Given the description of an element on the screen output the (x, y) to click on. 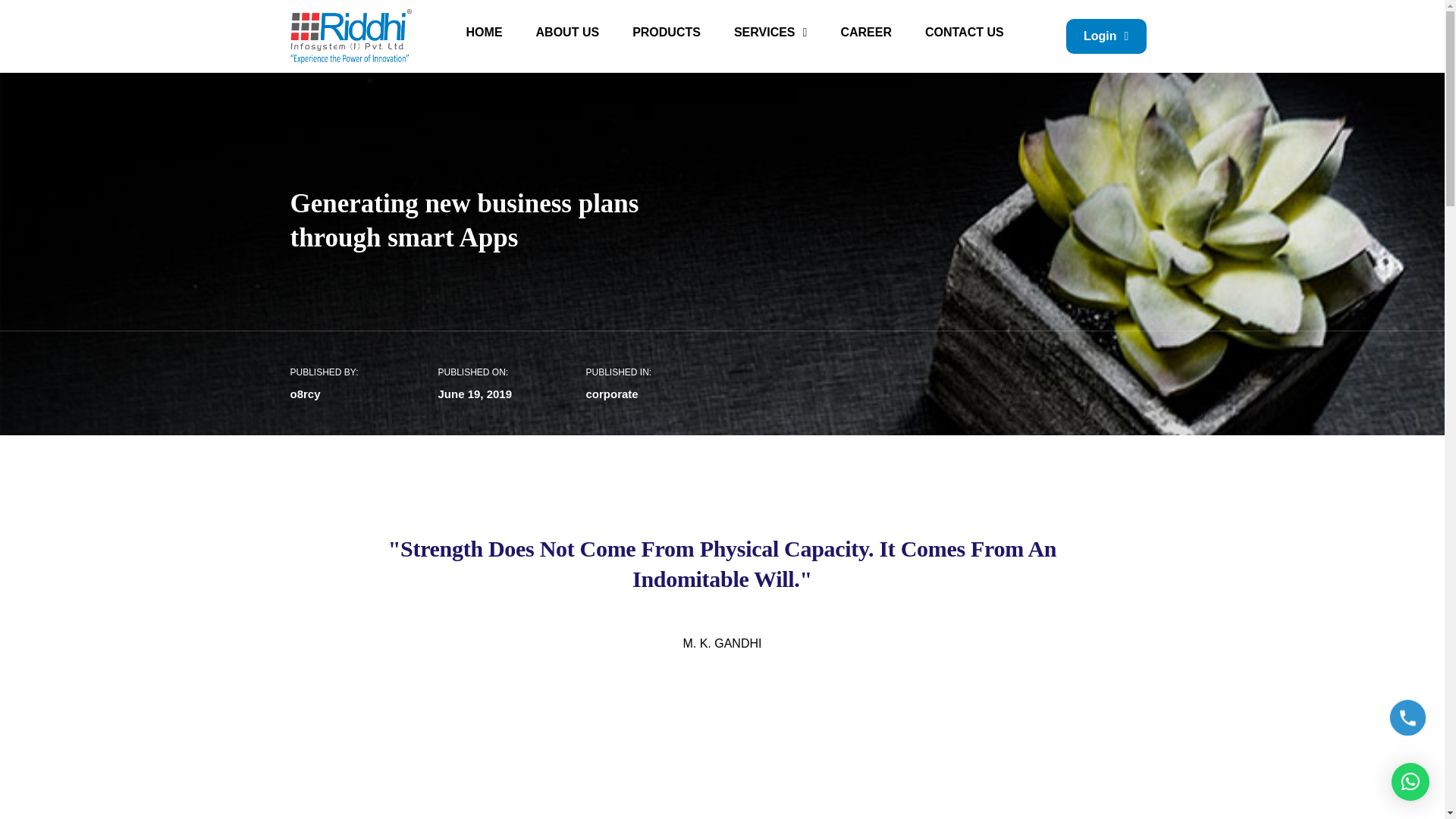
PRODUCTS (666, 4)
CAREER (866, 15)
HOME (484, 4)
SERVICES (770, 5)
CONTACT US (964, 15)
ABOUT US (567, 4)
